Given the description of an element on the screen output the (x, y) to click on. 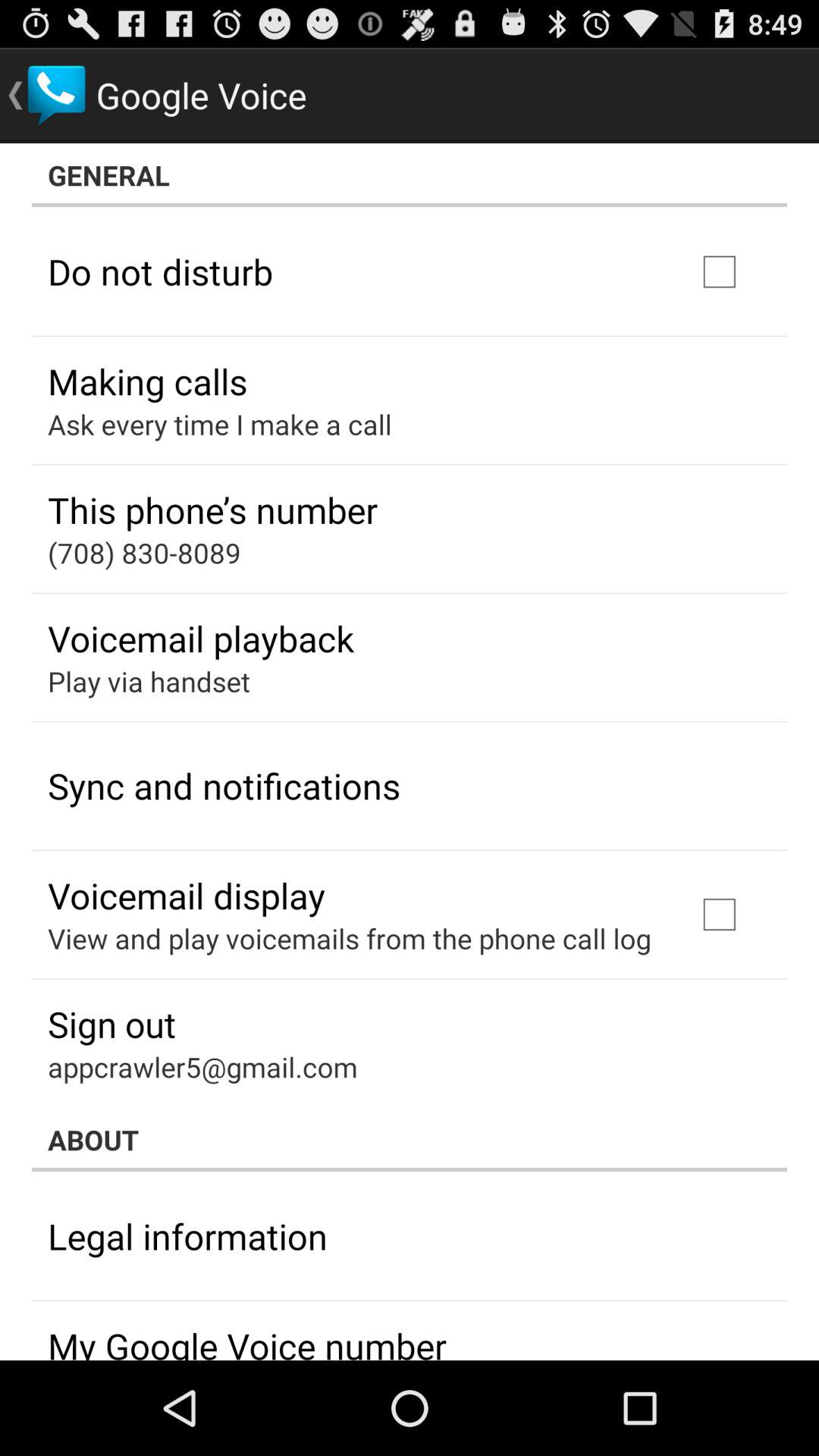
launch item at the bottom (409, 1139)
